Given the description of an element on the screen output the (x, y) to click on. 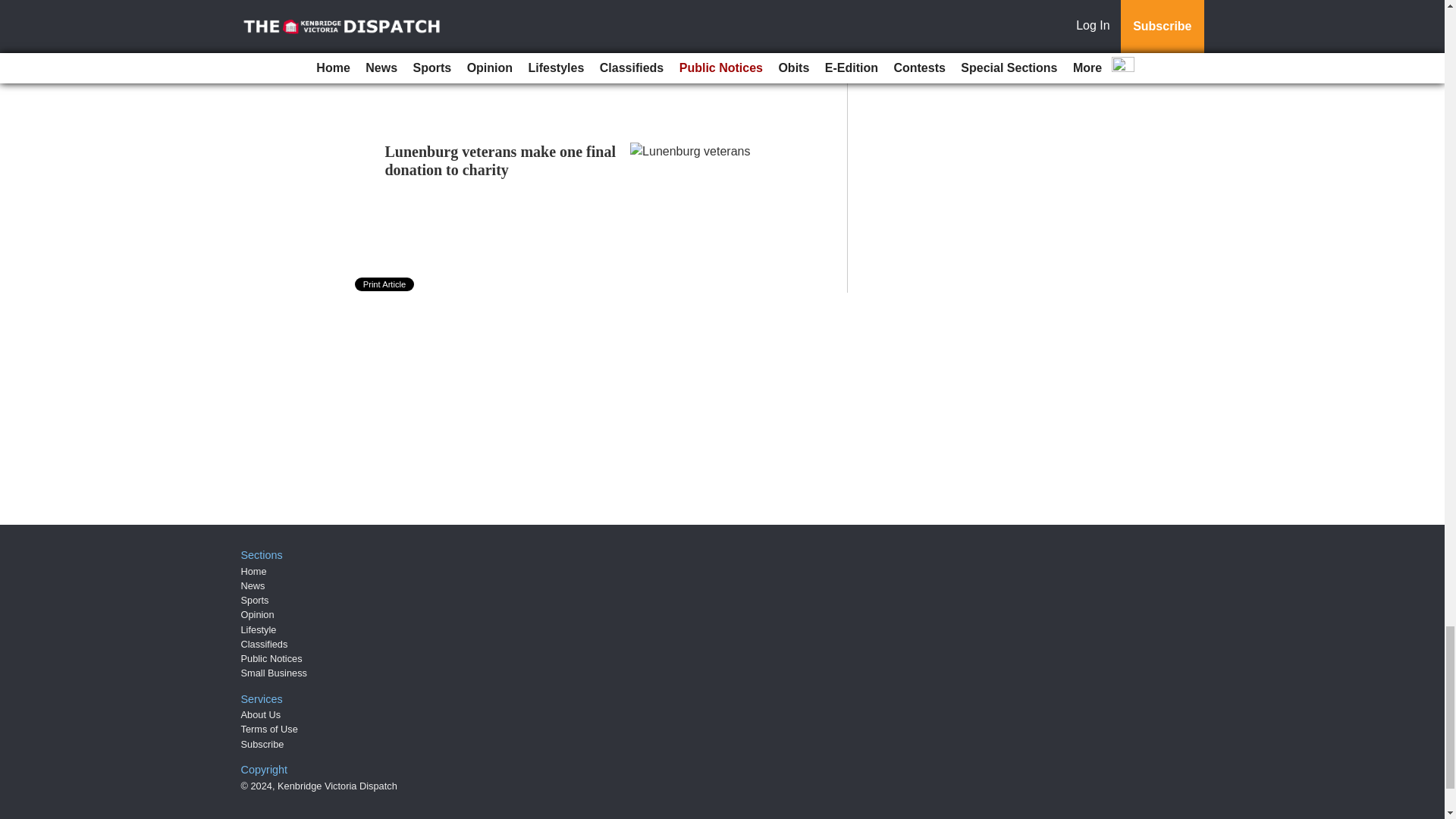
Lunenburg veterans make one final donation to charity (500, 160)
Print Article (384, 284)
Lunenburg veterans make one final donation to charity (500, 160)
